Given the description of an element on the screen output the (x, y) to click on. 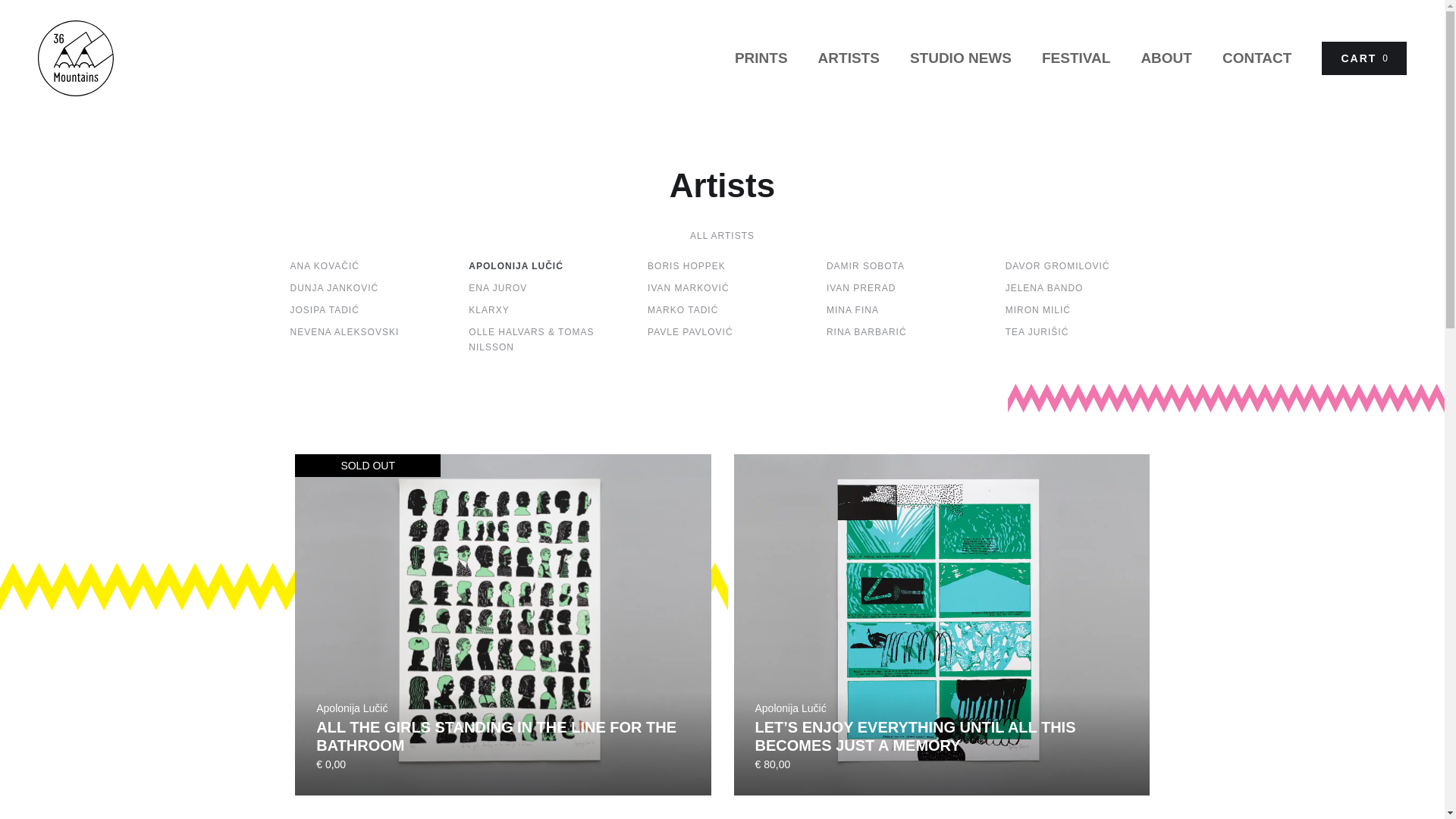
MINA FINA Element type: text (900, 309)
CART
0 Element type: text (1363, 58)
STUDIO NEWS Element type: text (960, 57)
CONTACT Element type: text (1256, 57)
OLLE HALVARS & TOMAS NILSSON Element type: text (543, 339)
IVAN PRERAD Element type: text (900, 287)
FESTIVAL Element type: text (1075, 57)
NEVENA ALEKSOVSKI Element type: text (364, 331)
KLARXY Element type: text (543, 309)
PRINTS Element type: text (761, 57)
JELENA BANDO Element type: text (1079, 287)
DAMIR SOBOTA Element type: text (900, 265)
ABOUT Element type: text (1166, 57)
BORIS HOPPEK Element type: text (722, 265)
ENA JUROV Element type: text (543, 287)
ALL ARTISTS Element type: text (722, 235)
ARTISTS Element type: text (848, 57)
